Given the description of an element on the screen output the (x, y) to click on. 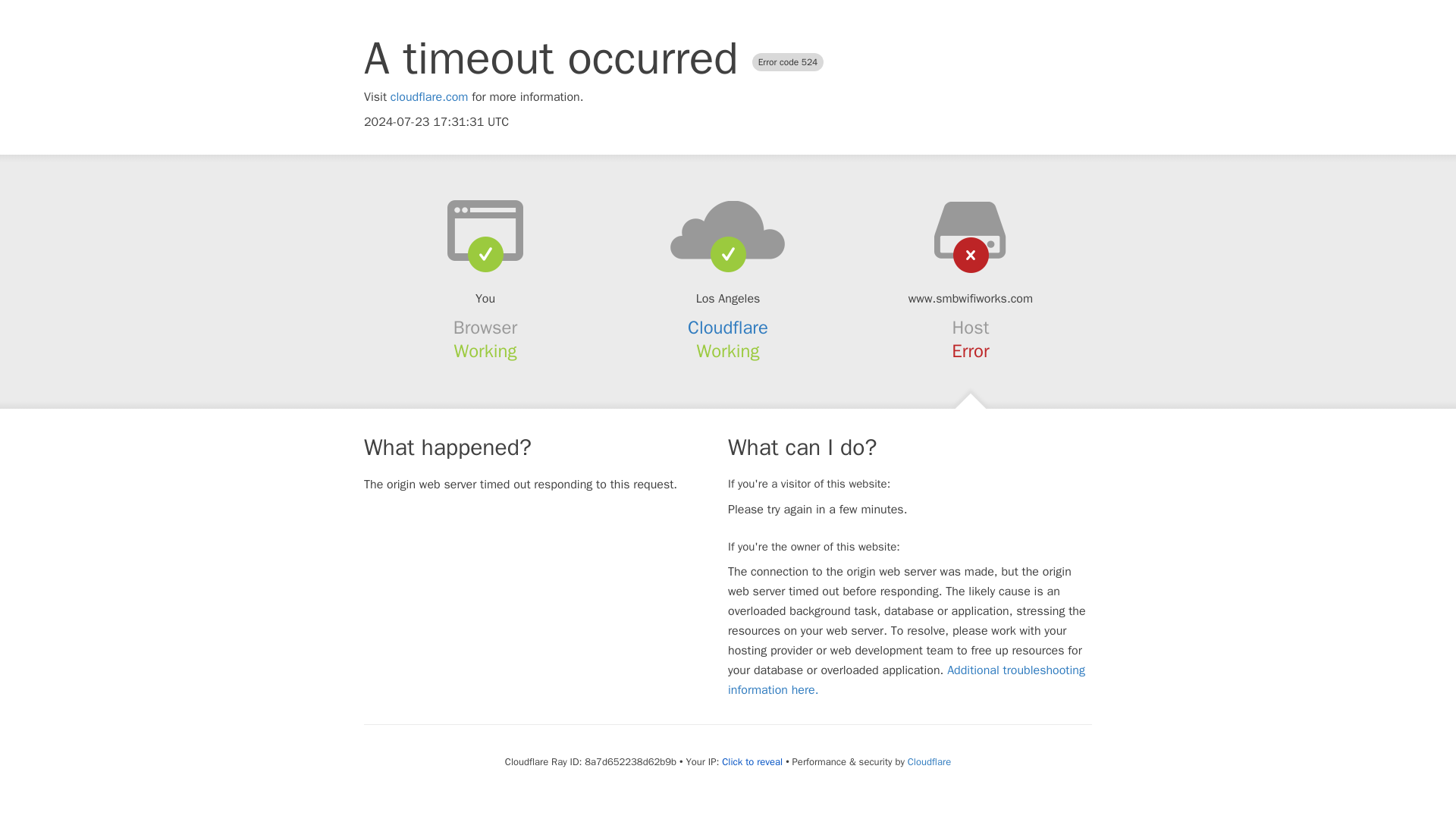
Additional troubleshooting information here. (906, 679)
Cloudflare (928, 761)
Cloudflare (727, 327)
cloudflare.com (429, 96)
Click to reveal (752, 762)
